Given the description of an element on the screen output the (x, y) to click on. 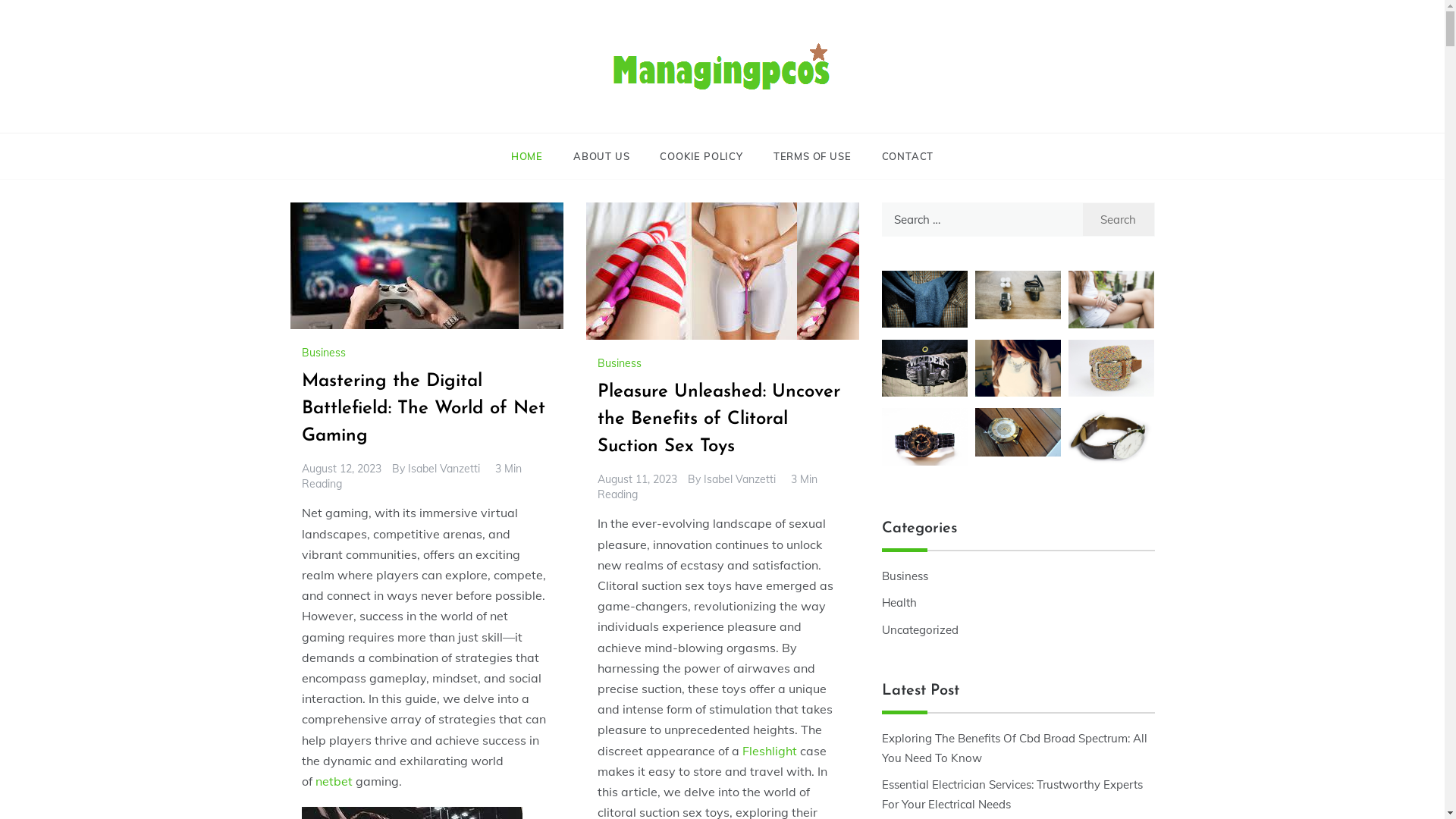
Managingpcos Element type: text (579, 118)
HOME Element type: text (534, 155)
ABOUT US Element type: text (601, 155)
Mastering the Digital Battlefield: The World of Net Gaming Element type: text (423, 408)
Health Element type: text (898, 602)
August 11, 2023 Element type: text (637, 479)
TERMS OF USE Element type: text (812, 155)
Business Element type: text (621, 363)
Business Element type: text (325, 352)
Fleshlight Element type: text (768, 750)
CONTACT Element type: text (899, 155)
COOKIE POLICY Element type: text (700, 155)
Isabel Vanzetti Element type: text (739, 479)
netbet Element type: text (333, 780)
Business Element type: text (904, 576)
Isabel Vanzetti Element type: text (443, 468)
August 12, 2023 Element type: text (341, 468)
Search Element type: text (1118, 219)
Uncategorized Element type: text (919, 630)
